Given the description of an element on the screen output the (x, y) to click on. 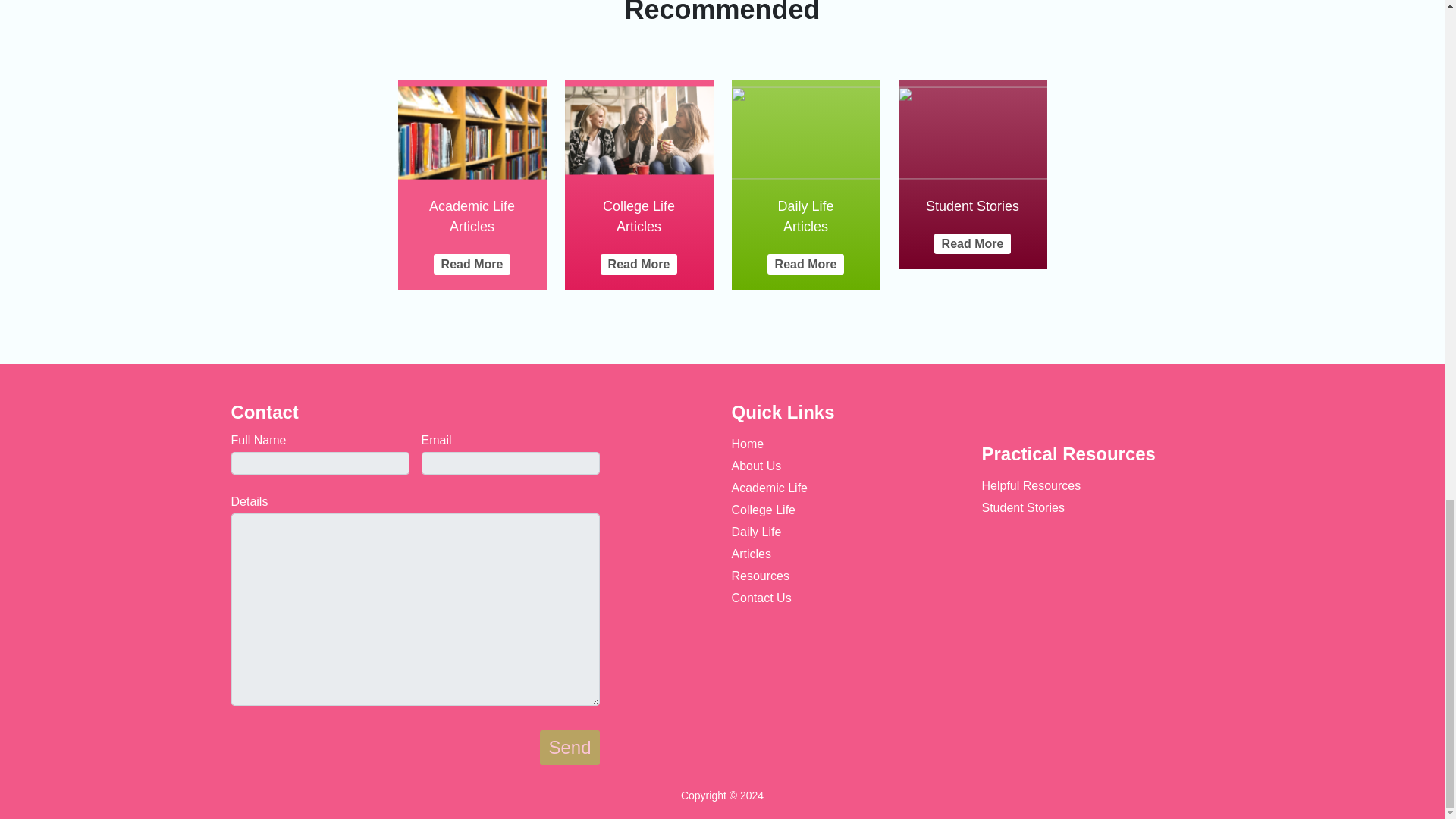
Read More (472, 263)
Read More (805, 263)
Home (746, 443)
Read More (638, 263)
Read More (972, 243)
About Us (755, 465)
Send (569, 747)
